Given the description of an element on the screen output the (x, y) to click on. 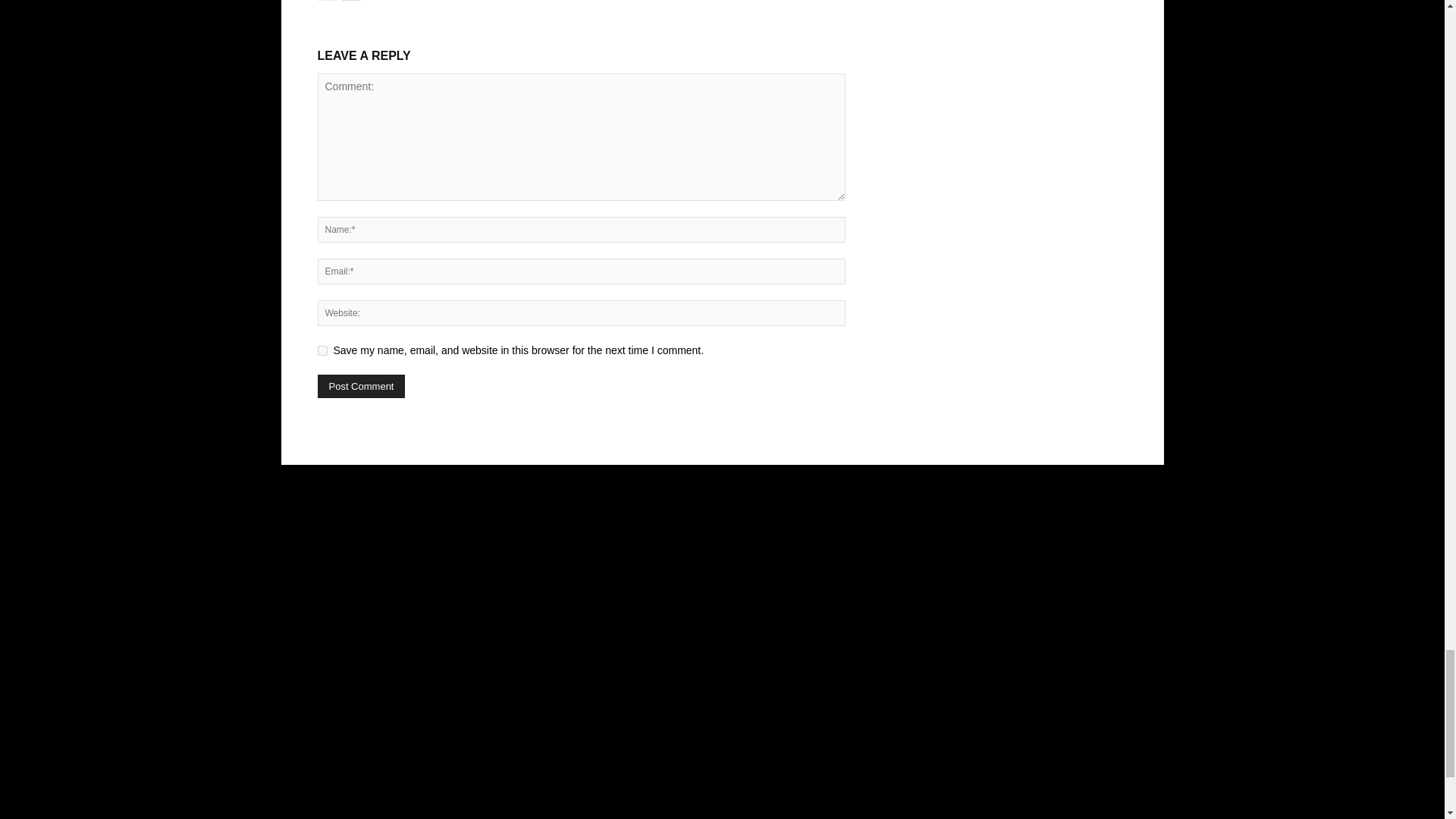
yes (321, 350)
Post Comment (360, 386)
